Given the description of an element on the screen output the (x, y) to click on. 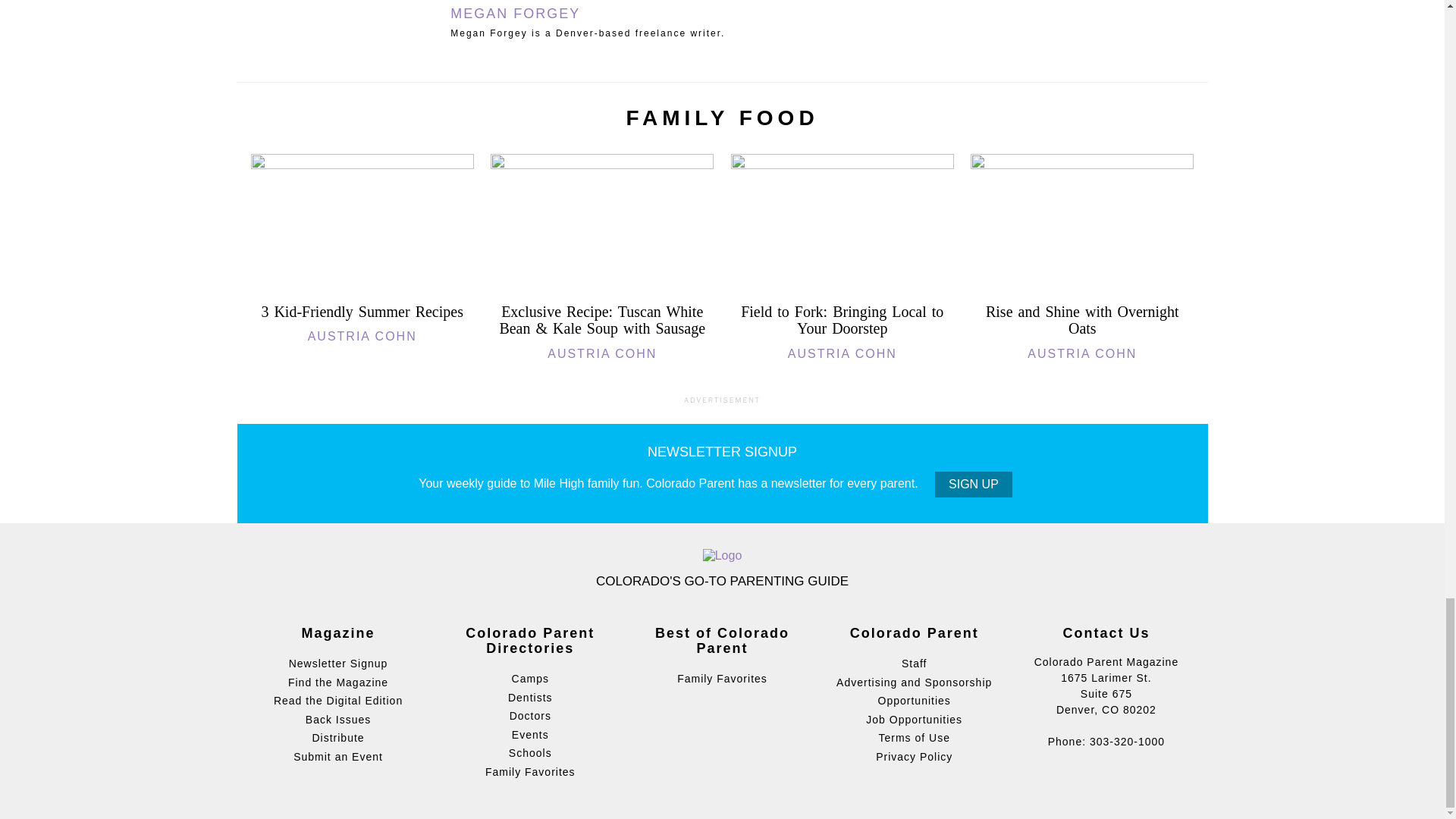
3 Kid-Friendly Summer Recipes (361, 311)
Rise and Shine with Overnight Oats (1082, 320)
Rise and Shine with Overnight Oats (1082, 164)
Field to Fork: Bringing Local to Your Doorstep (841, 164)
Field to Fork: Bringing Local to Your Doorstep (842, 320)
3 Kid-Friendly Summer Recipes (361, 164)
View Author Archive (514, 13)
